Given the description of an element on the screen output the (x, y) to click on. 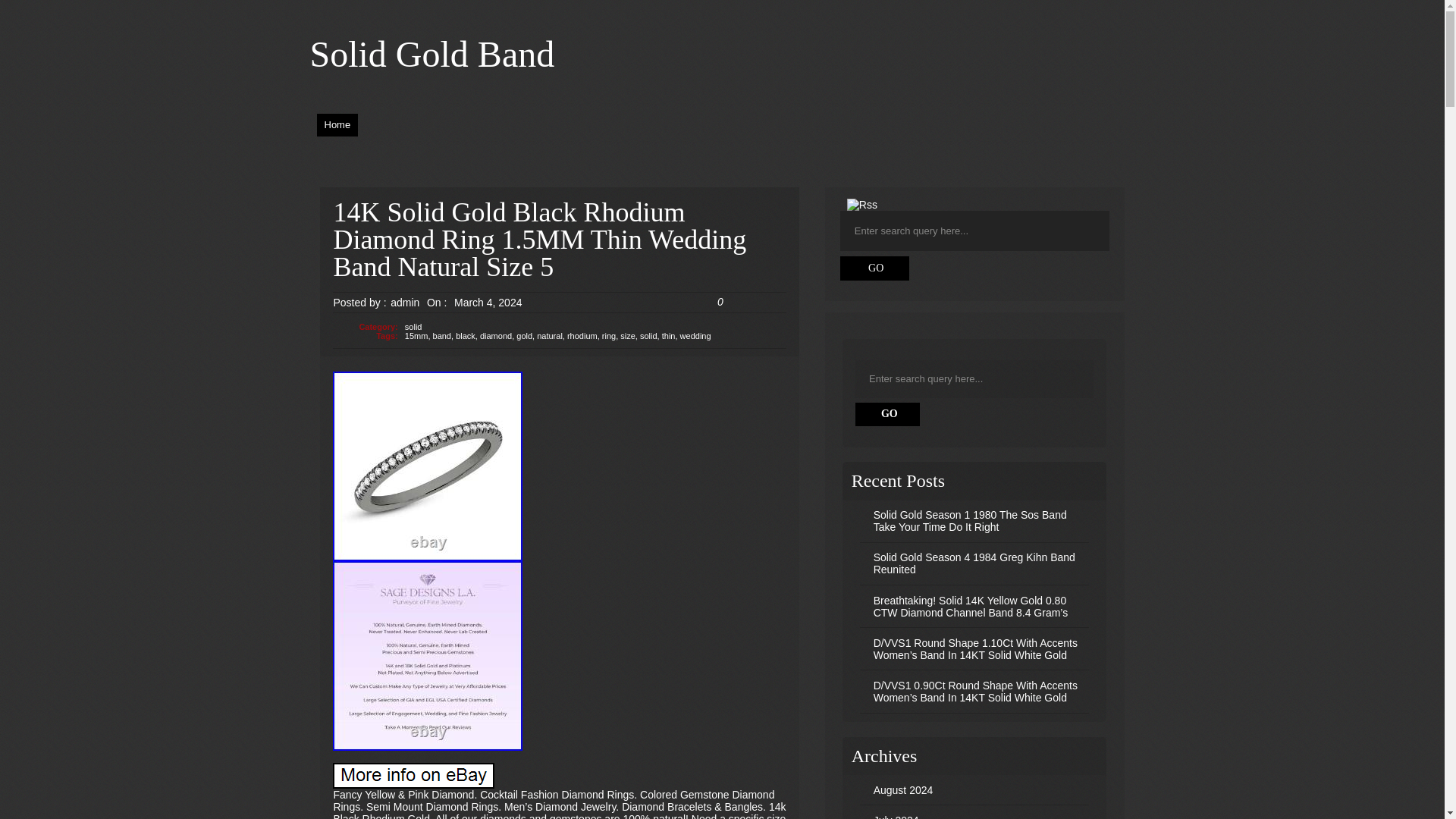
black (465, 335)
thin (668, 335)
15mm (416, 335)
July 2024 (895, 816)
Solid Gold Band (431, 54)
size (627, 335)
solid (649, 335)
Enter search query here... (975, 378)
Home (337, 125)
Go (889, 413)
rhodium (581, 335)
Go (875, 268)
Go (875, 268)
Enter search query here... (975, 230)
August 2024 (903, 789)
